Given the description of an element on the screen output the (x, y) to click on. 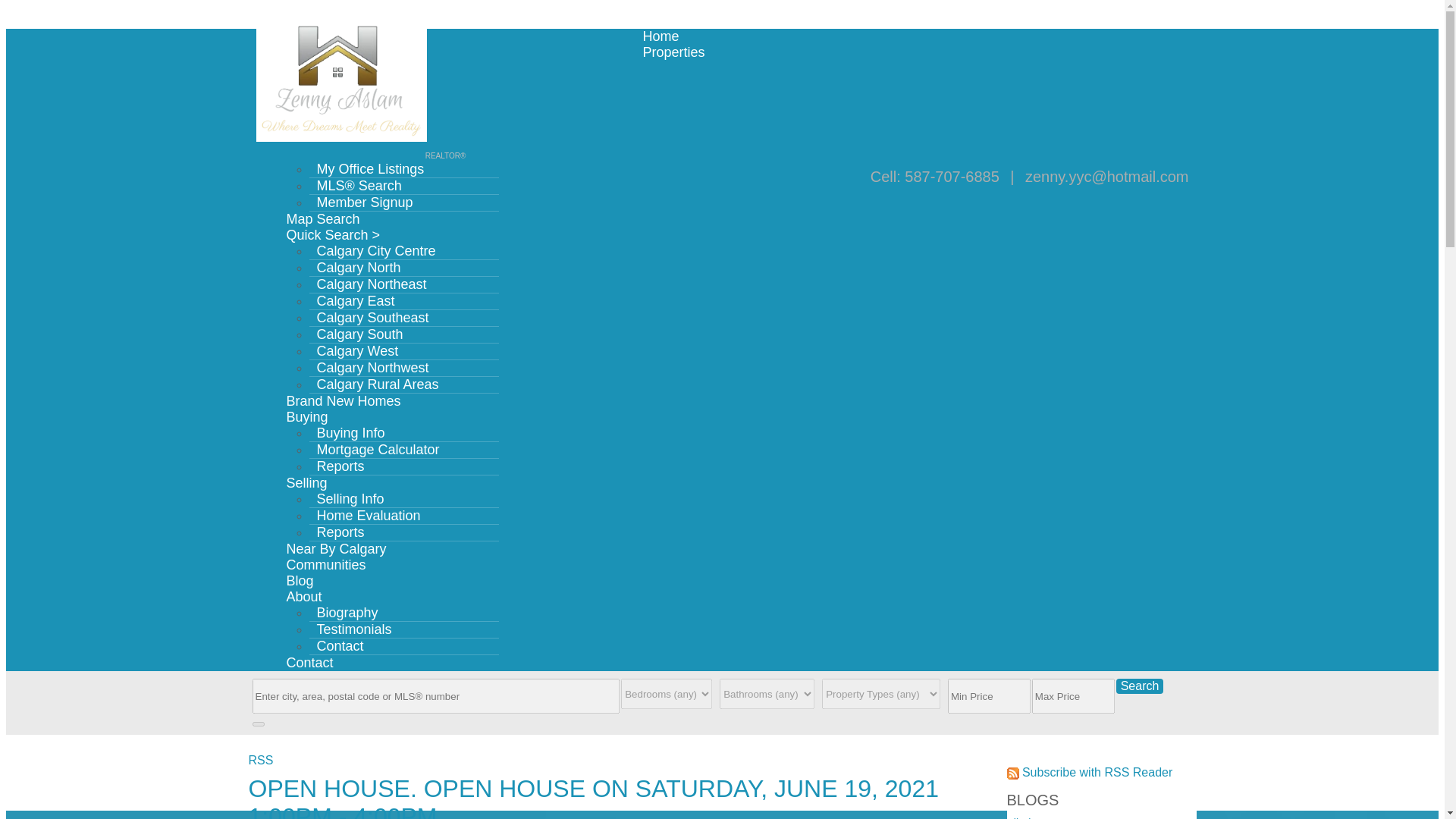
Contact (339, 646)
Calgary South (359, 334)
Home Evaluation (368, 515)
Calgary City Centre (376, 250)
Testimonials (353, 628)
Near By Calgary (336, 548)
Selling Info (349, 498)
Calgary Rural Areas (377, 384)
My Office Listings (370, 168)
Biography (346, 612)
